Given the description of an element on the screen output the (x, y) to click on. 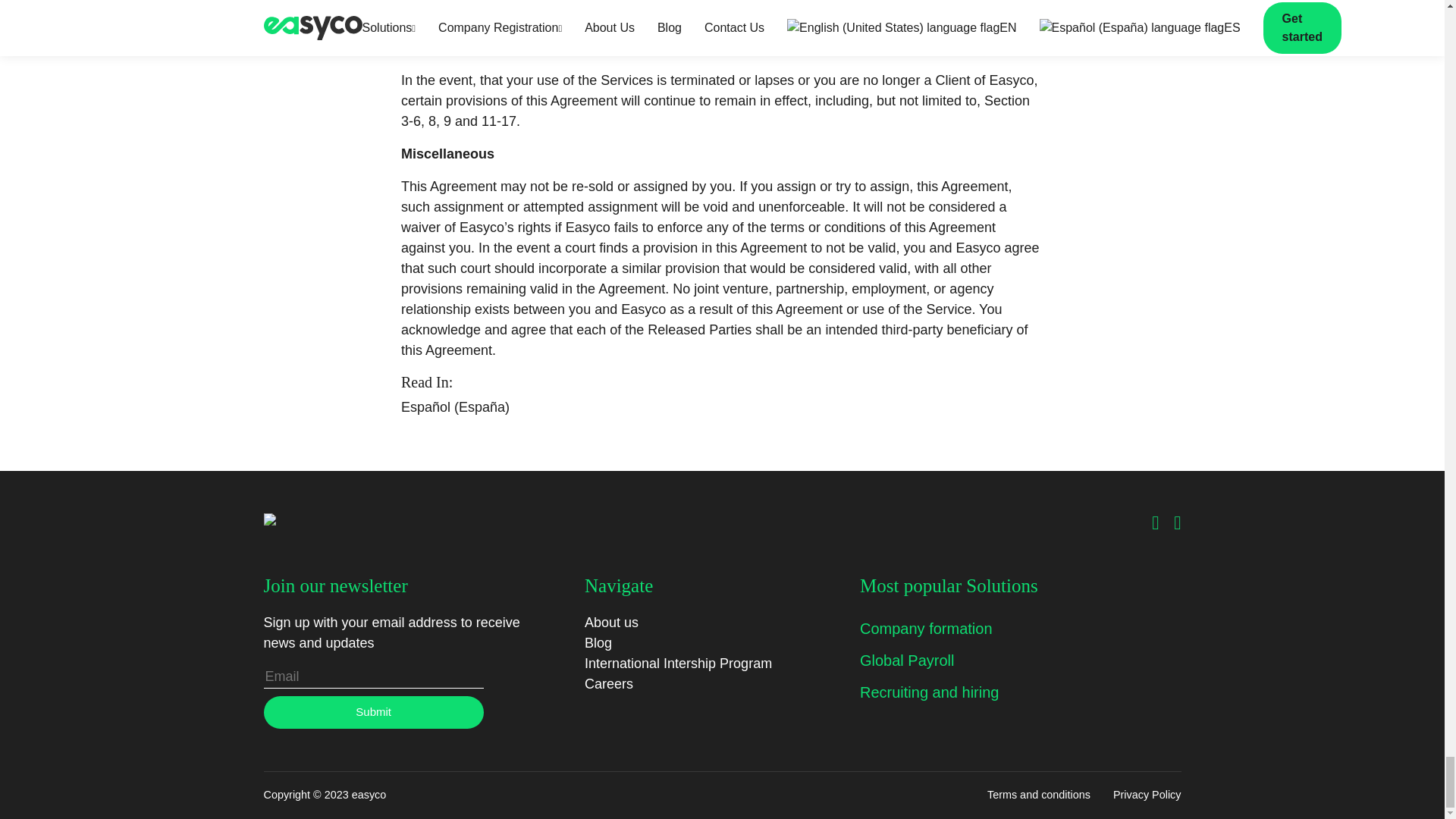
Submit (373, 712)
